Given the description of an element on the screen output the (x, y) to click on. 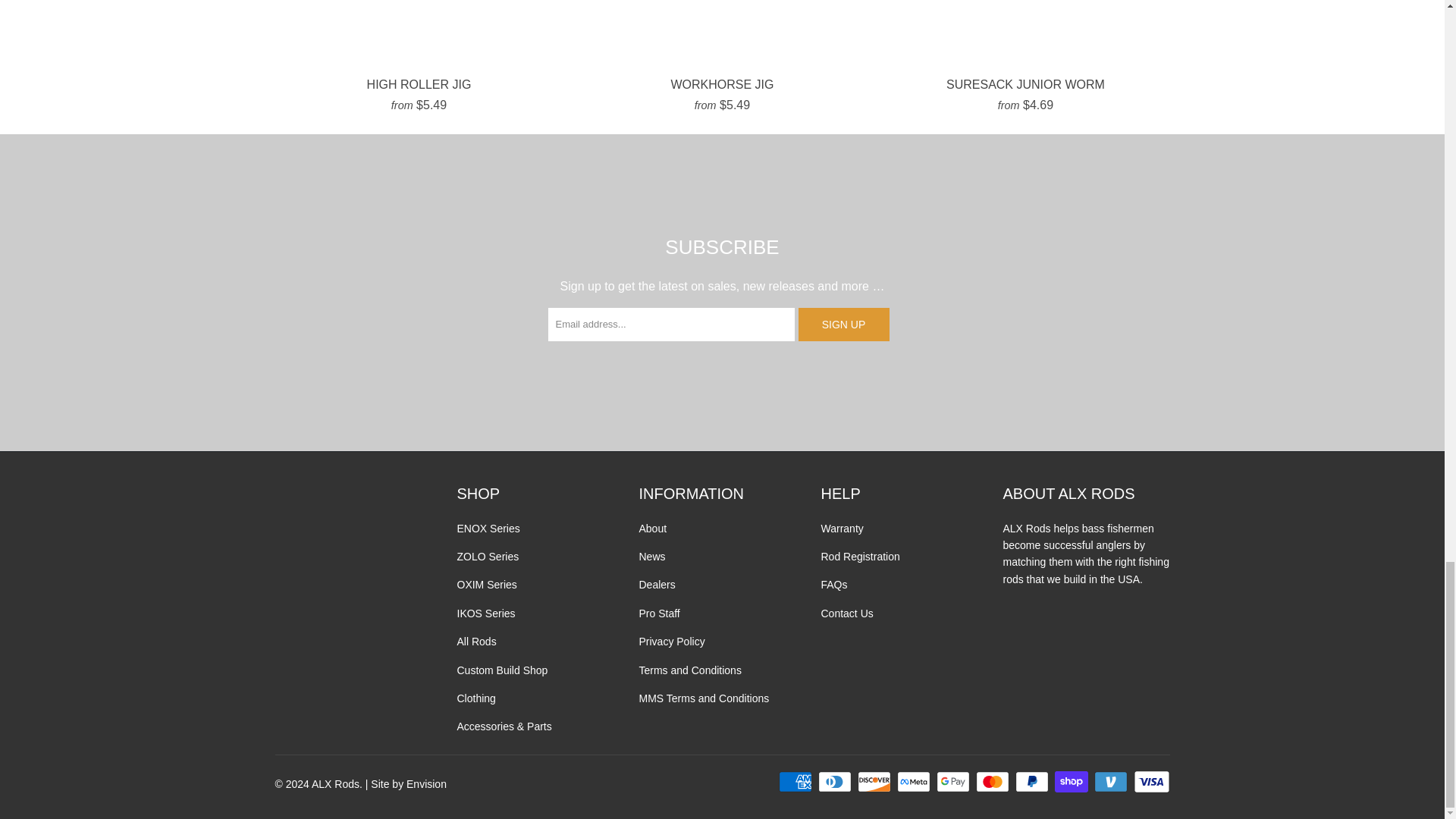
Google Pay (954, 781)
Diners Club (836, 781)
Visa (1150, 781)
Sign Up (842, 324)
American Express (796, 781)
Discover (875, 781)
PayPal (1032, 781)
Shop Pay (1072, 781)
Meta Pay (914, 781)
Mastercard (993, 781)
